Given the description of an element on the screen output the (x, y) to click on. 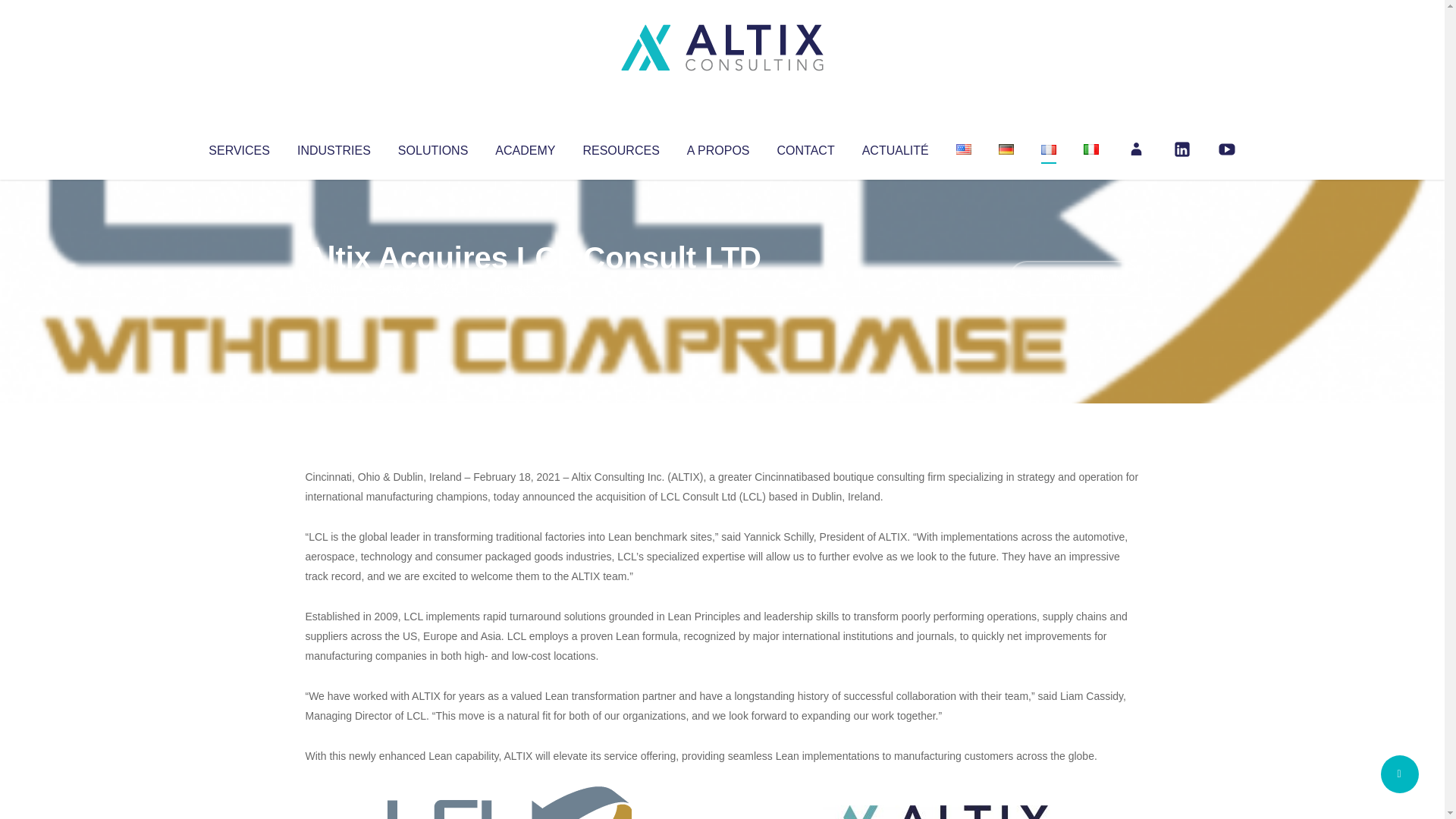
Altix (333, 287)
INDUSTRIES (334, 146)
Uncategorized (530, 287)
Articles par Altix (333, 287)
SERVICES (238, 146)
A PROPOS (718, 146)
ACADEMY (524, 146)
No Comments (1073, 278)
SOLUTIONS (432, 146)
RESOURCES (620, 146)
